Given the description of an element on the screen output the (x, y) to click on. 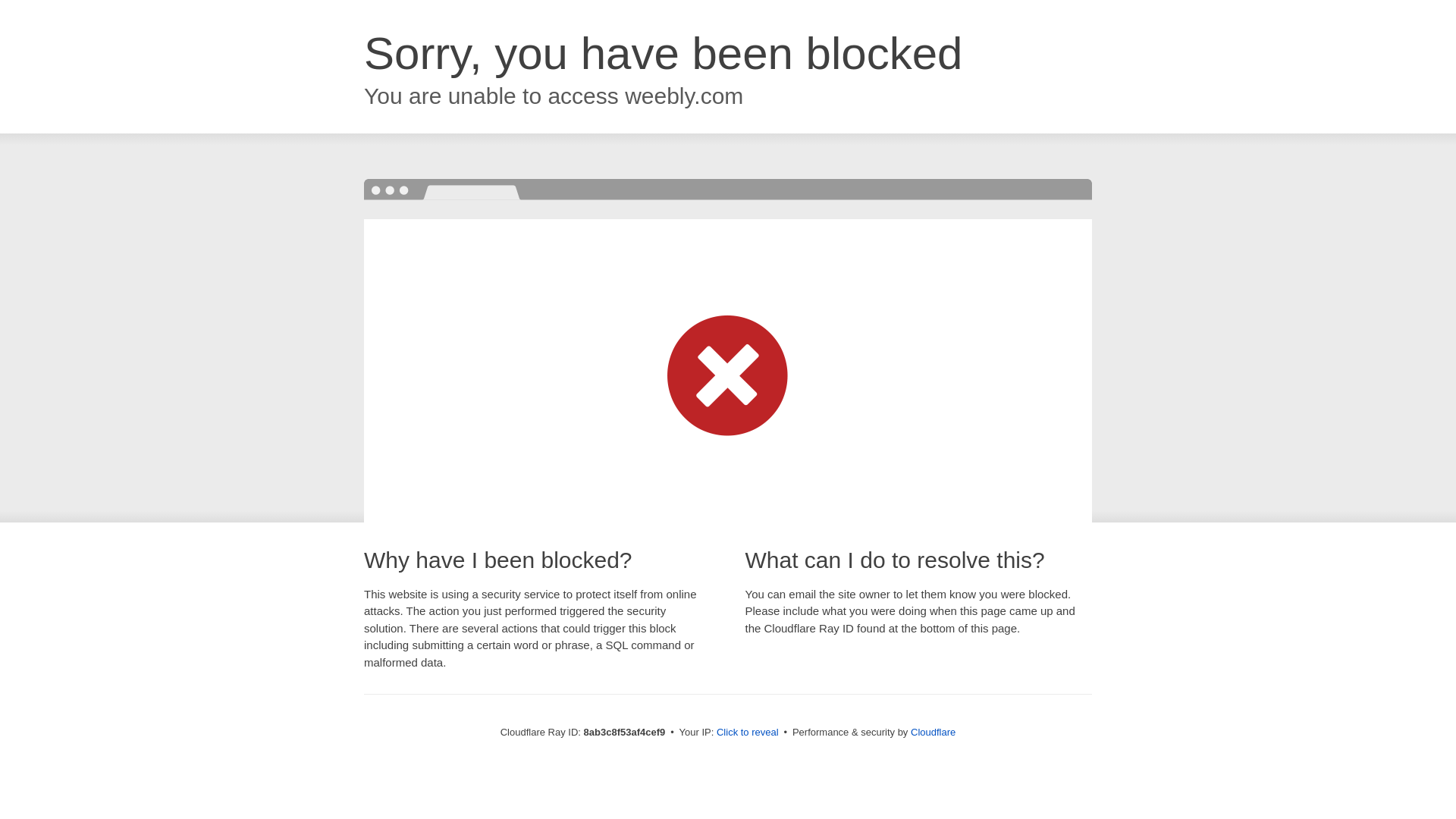
Click to reveal (747, 732)
Cloudflare (933, 731)
